Given the description of an element on the screen output the (x, y) to click on. 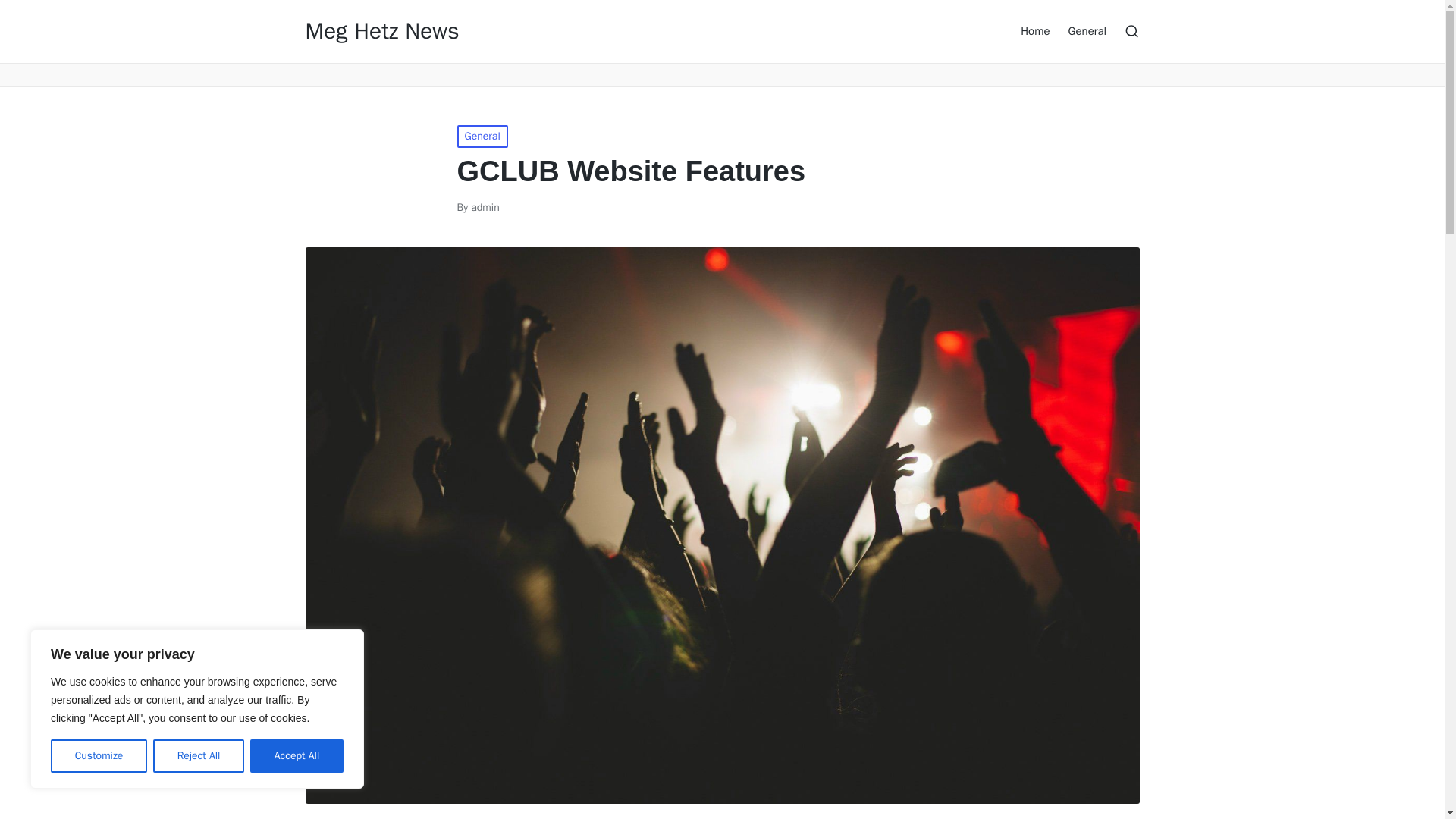
General (481, 136)
View all posts by  (484, 206)
Home (1034, 30)
Reject All (198, 756)
Meg Hetz News (381, 31)
admin (484, 206)
General (1087, 30)
Accept All (296, 756)
Customize (98, 756)
